Given the description of an element on the screen output the (x, y) to click on. 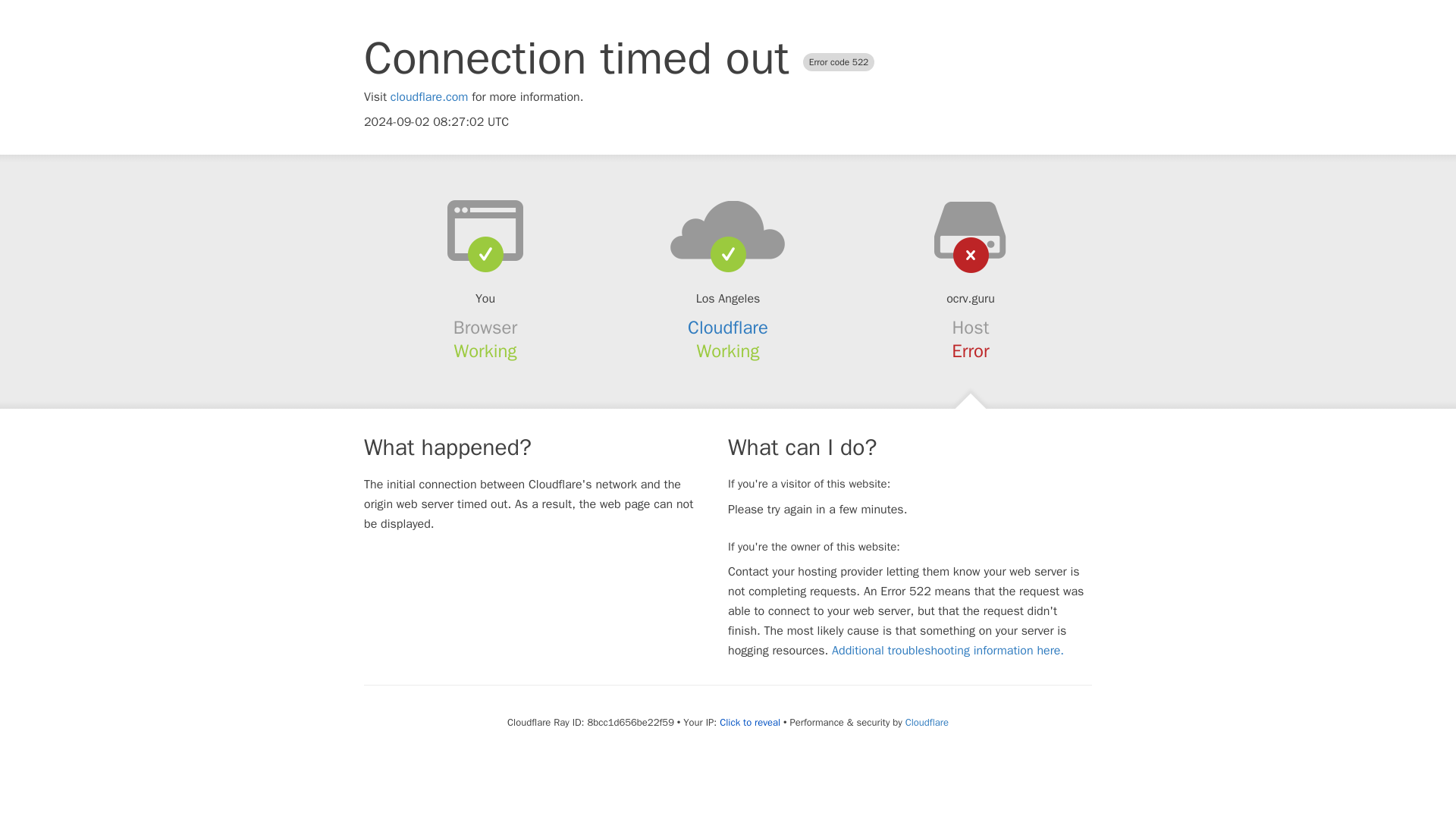
Cloudflare (927, 721)
Click to reveal (749, 722)
Cloudflare (727, 327)
cloudflare.com (429, 96)
Additional troubleshooting information here. (947, 650)
